Given the description of an element on the screen output the (x, y) to click on. 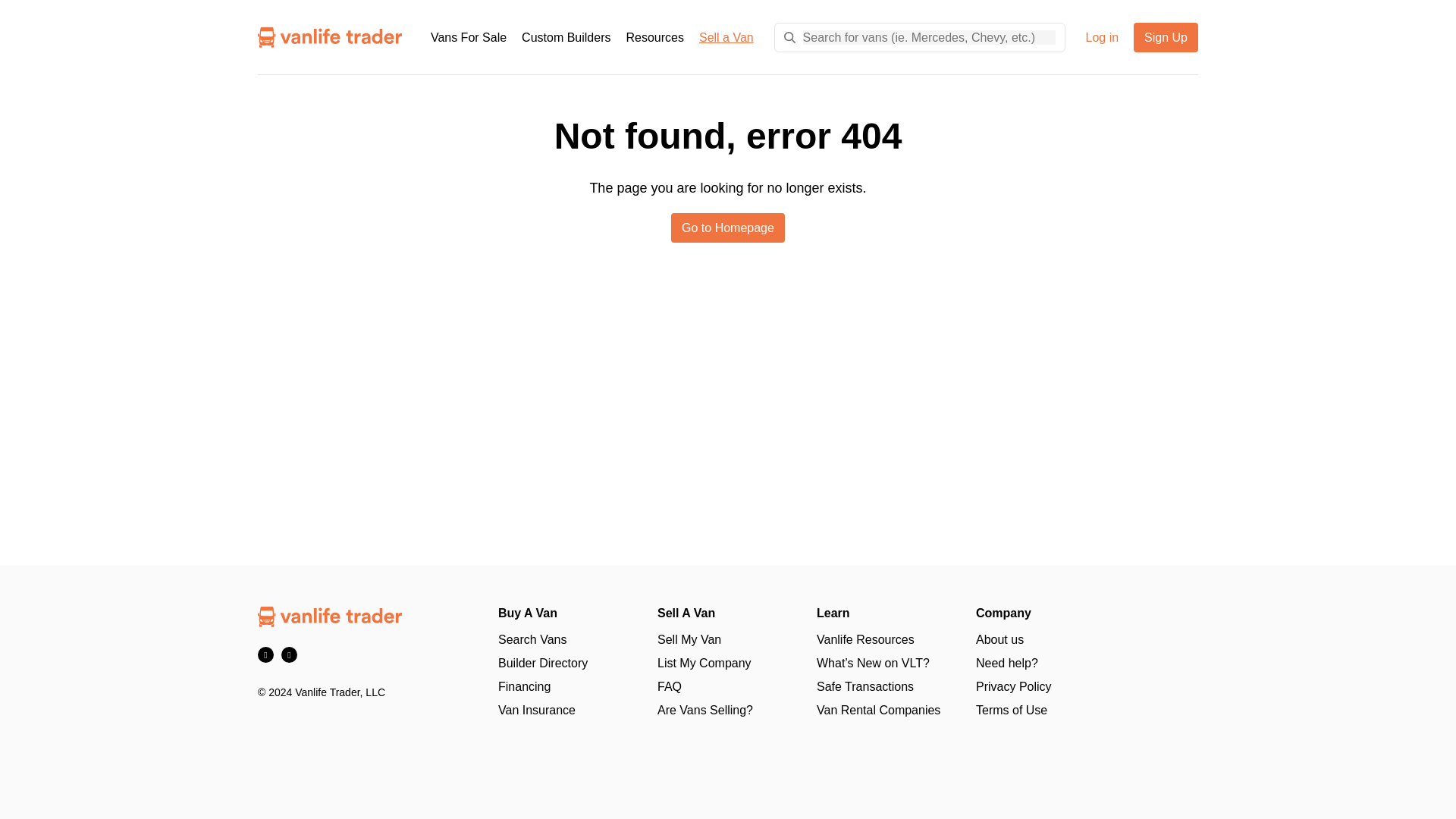
FAQ (669, 686)
Vanlife Resources (865, 639)
Log in (1101, 37)
Builder Directory (542, 662)
Terms of Use (1010, 709)
Sell a Van (726, 37)
Van Insurance (536, 709)
Are Vans Selling? (705, 709)
Safe Transactions (865, 686)
Go to Homepage (727, 227)
Custom Builders (565, 37)
Van Rental Companies (878, 709)
About us (999, 639)
Vans For Sale (468, 37)
Need help? (1006, 662)
